Given the description of an element on the screen output the (x, y) to click on. 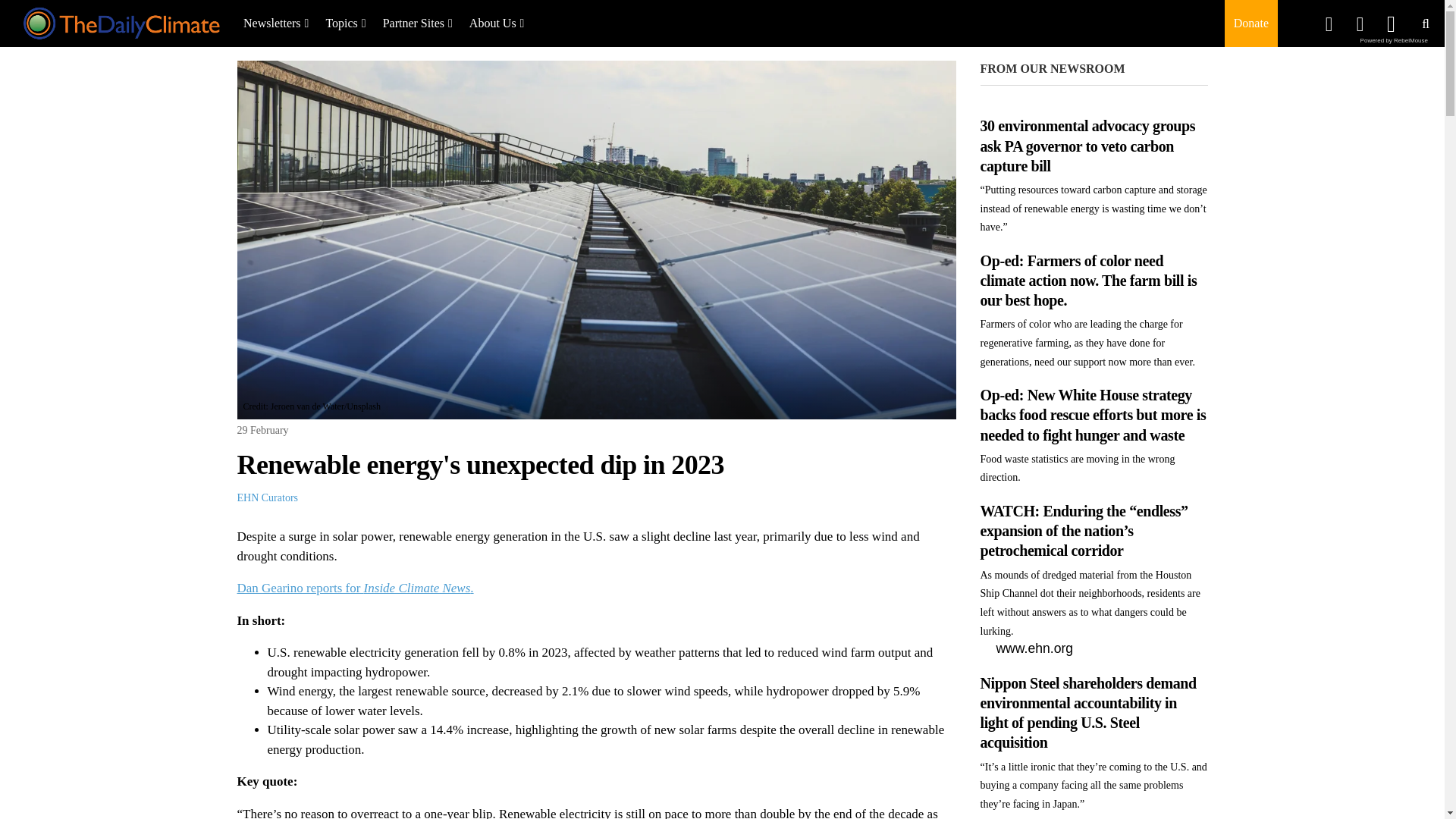
Best CMS (1393, 40)
Donate (1250, 22)
